Given the description of an element on the screen output the (x, y) to click on. 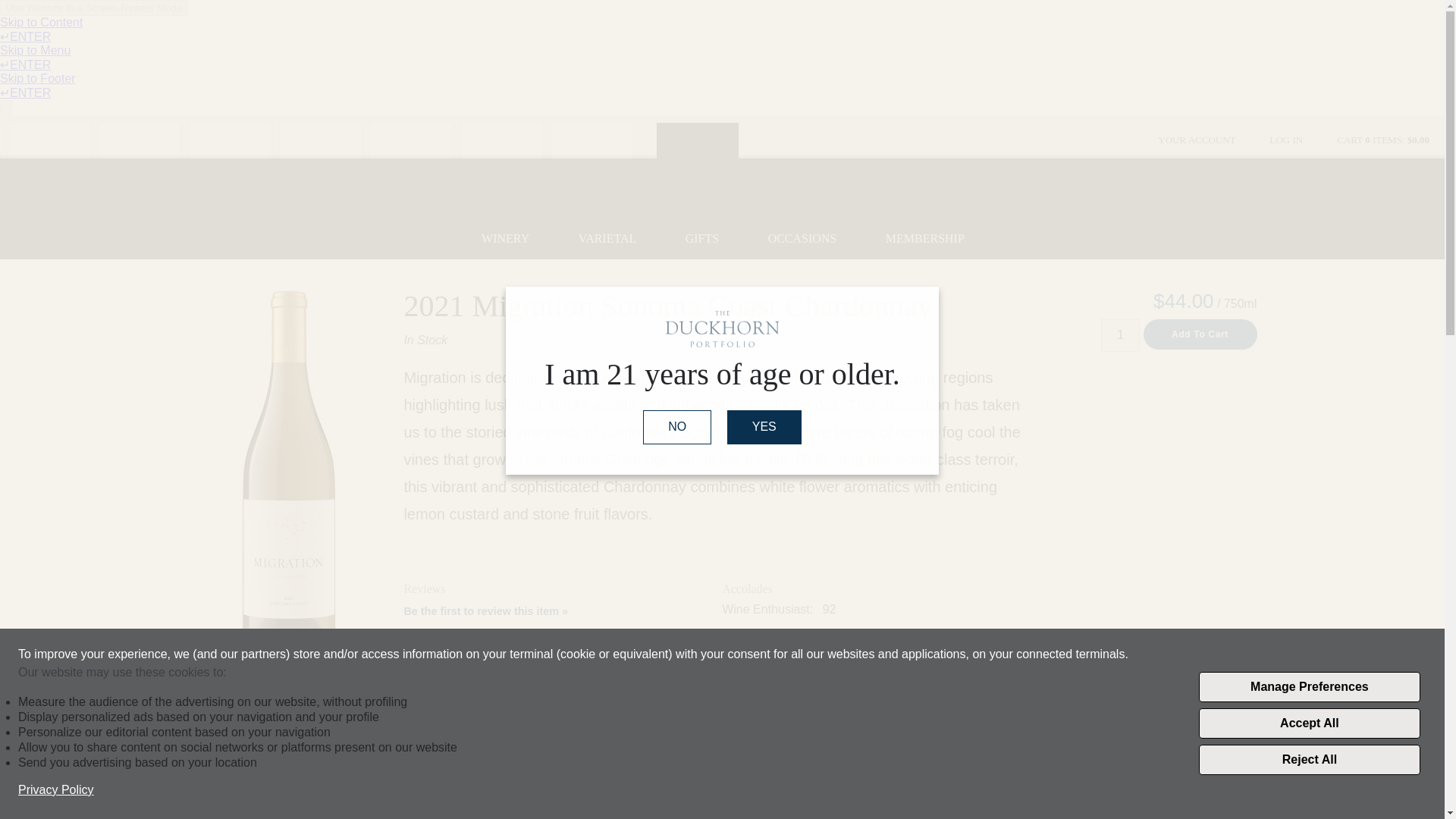
1 (1120, 335)
VARIETAL (607, 238)
LOG IN (1287, 139)
YOUR ACCOUNT (1196, 139)
Duckhorn Portfolio Logo (721, 188)
Accept All (1309, 723)
Privacy Policy (55, 789)
Reject All (1309, 759)
Duckhorn Portfolio Logo (721, 329)
WINERY (504, 238)
